Given the description of an element on the screen output the (x, y) to click on. 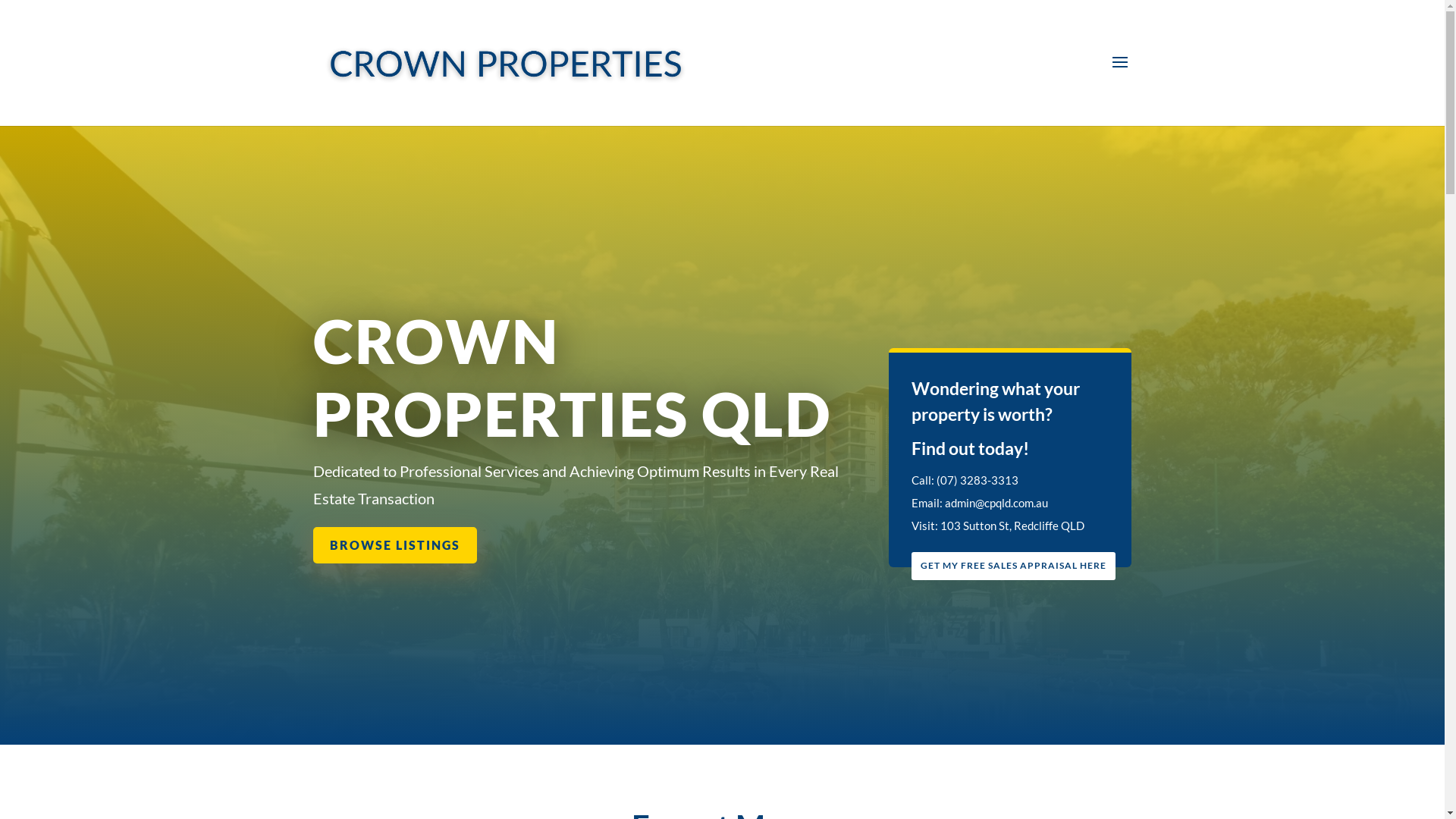
GET MY FREE SALES APPRAISAL HERE Element type: text (1013, 565)
BROWSE LISTINGS Element type: text (394, 544)
